Given the description of an element on the screen output the (x, y) to click on. 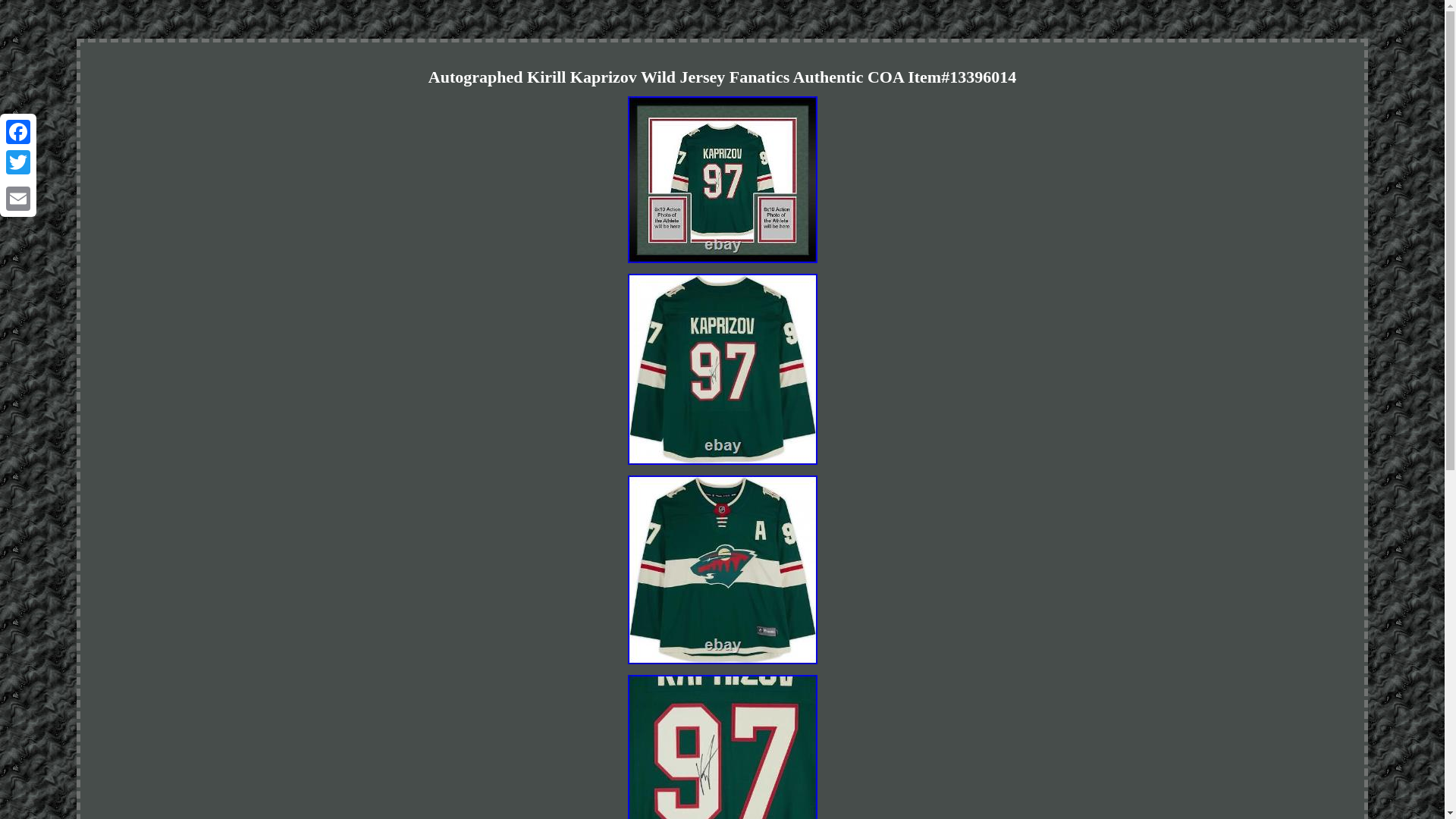
Twitter (17, 162)
Email (17, 198)
Facebook (17, 132)
